Given the description of an element on the screen output the (x, y) to click on. 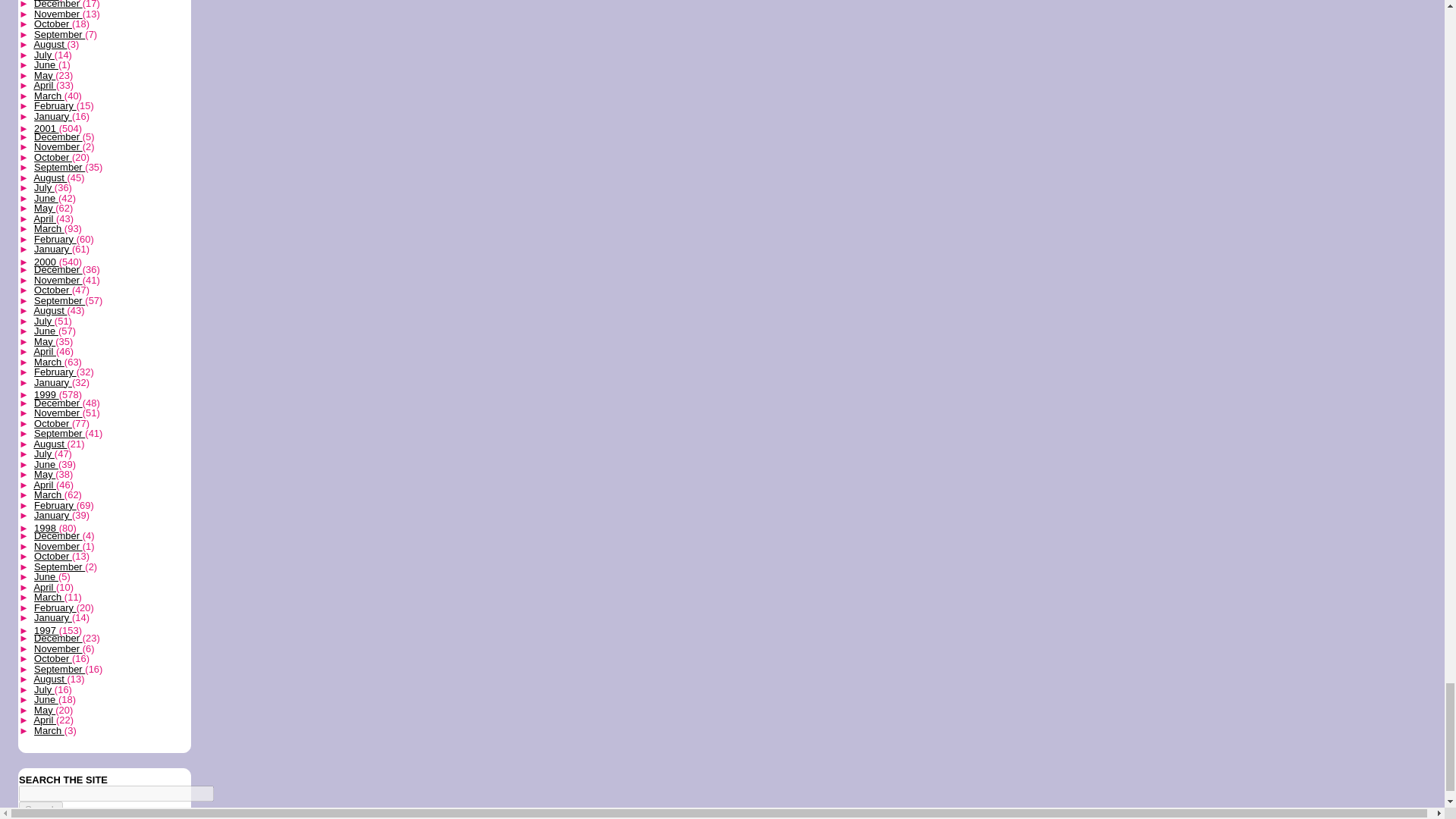
Search (40, 809)
